Given the description of an element on the screen output the (x, y) to click on. 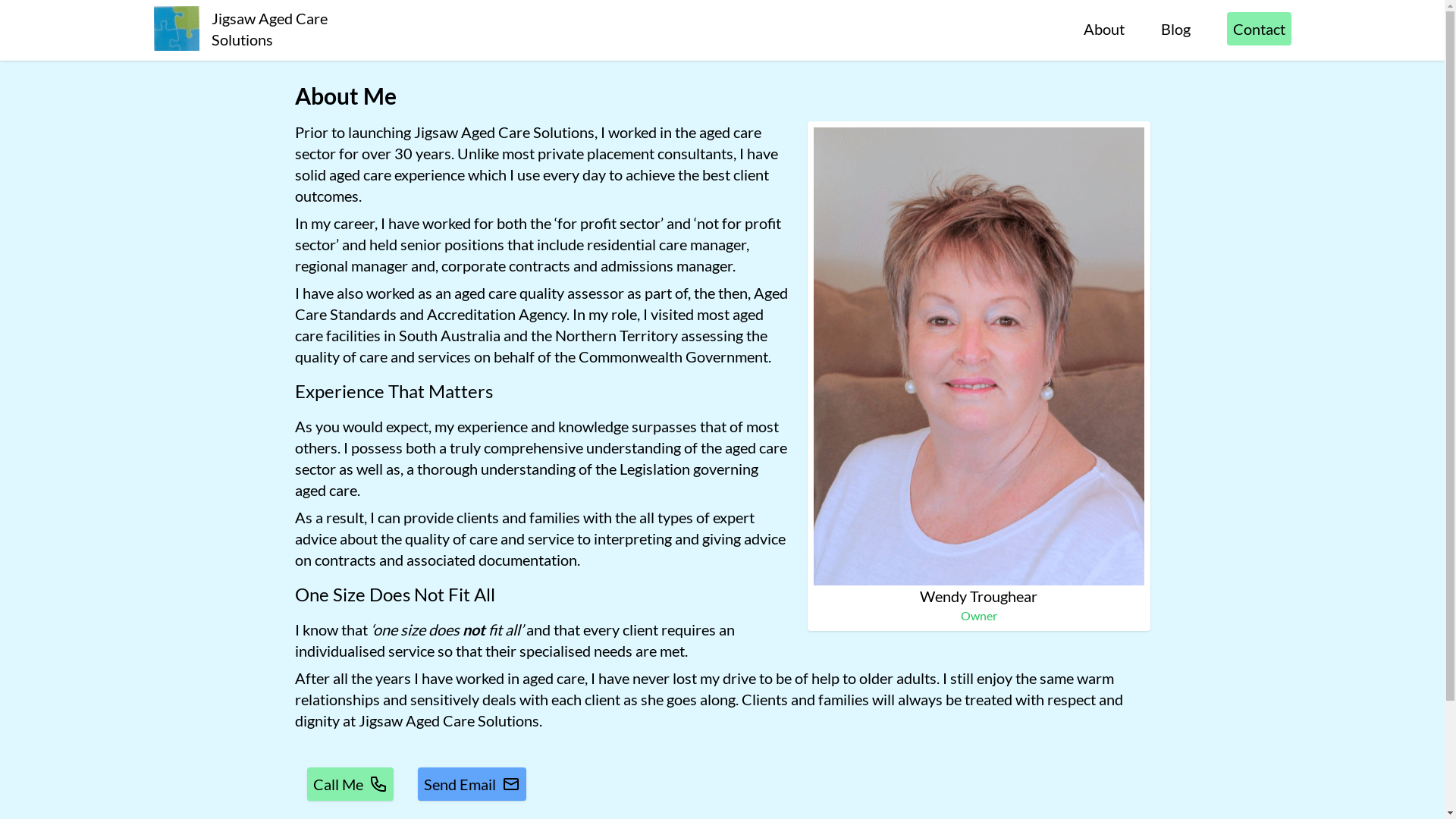
About Element type: text (1102, 28)
Blog Element type: text (1174, 28)
Call Me Element type: text (349, 783)
Send Email Element type: text (471, 783)
Contact Element type: text (1258, 28)
